Given the description of an element on the screen output the (x, y) to click on. 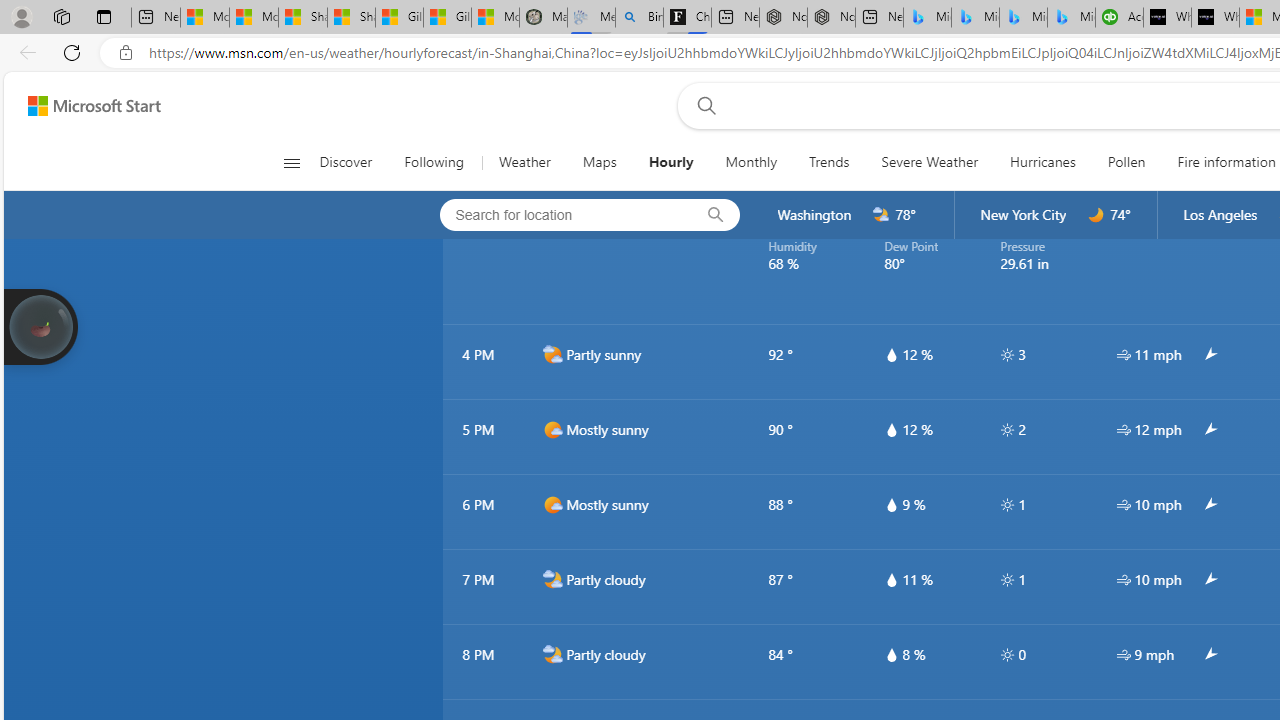
Trends (828, 162)
